Given the description of an element on the screen output the (x, y) to click on. 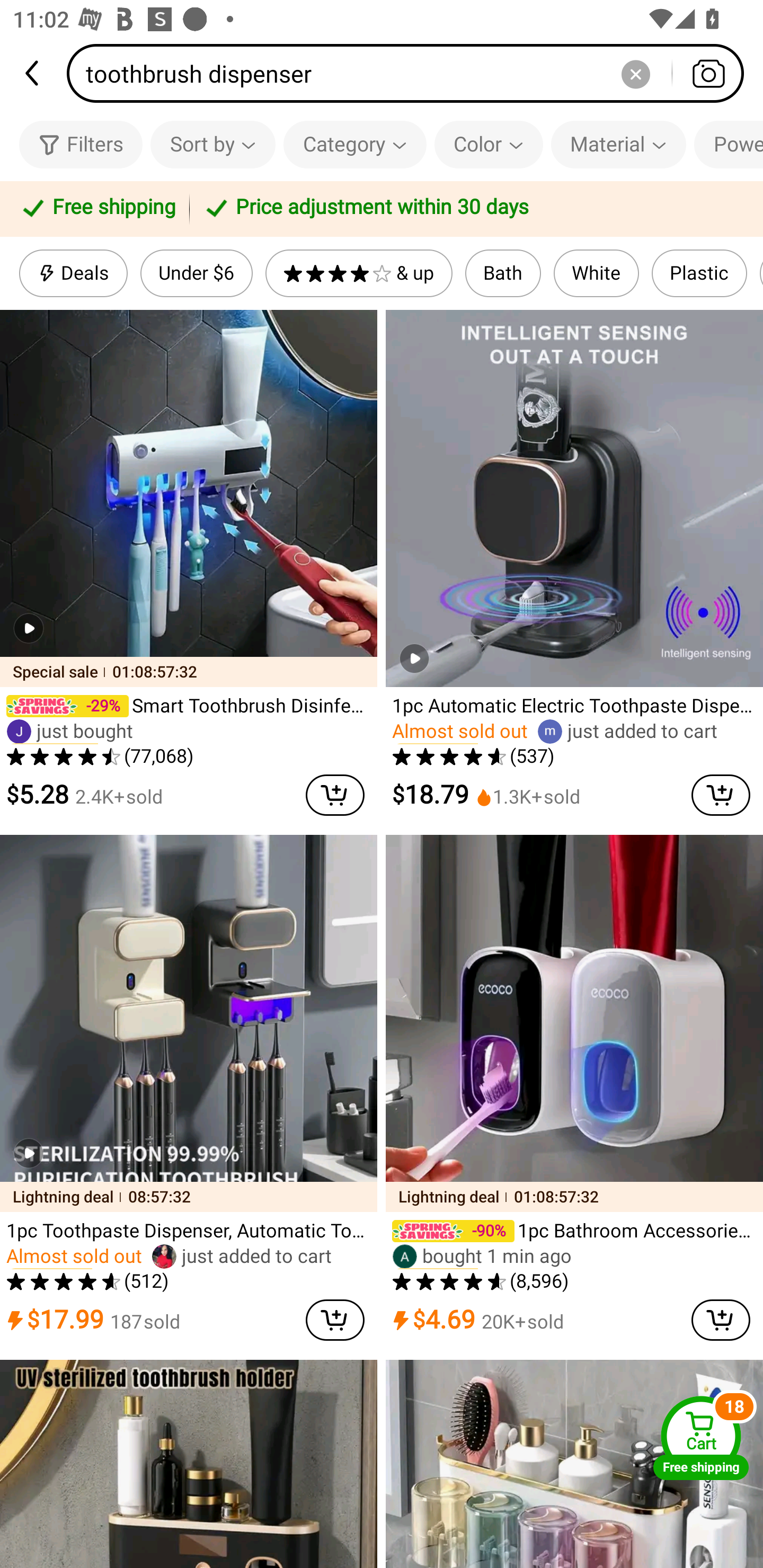
back (33, 72)
toothbrush dispenser (411, 73)
Delete search history (635, 73)
Search by photo (708, 73)
Filters (80, 143)
Sort by (212, 143)
Category (354, 143)
Color (488, 143)
Material (617, 143)
Free shipping (97, 208)
Price adjustment within 30 days (472, 208)
Deals (73, 273)
Under $6 (196, 273)
& up (358, 273)
Bath (502, 273)
White (596, 273)
Plastic (698, 273)
cart delete (334, 794)
cart delete (720, 794)
cart delete (334, 1319)
cart delete (720, 1319)
Cart Free shipping Cart (701, 1437)
